Given the description of an element on the screen output the (x, y) to click on. 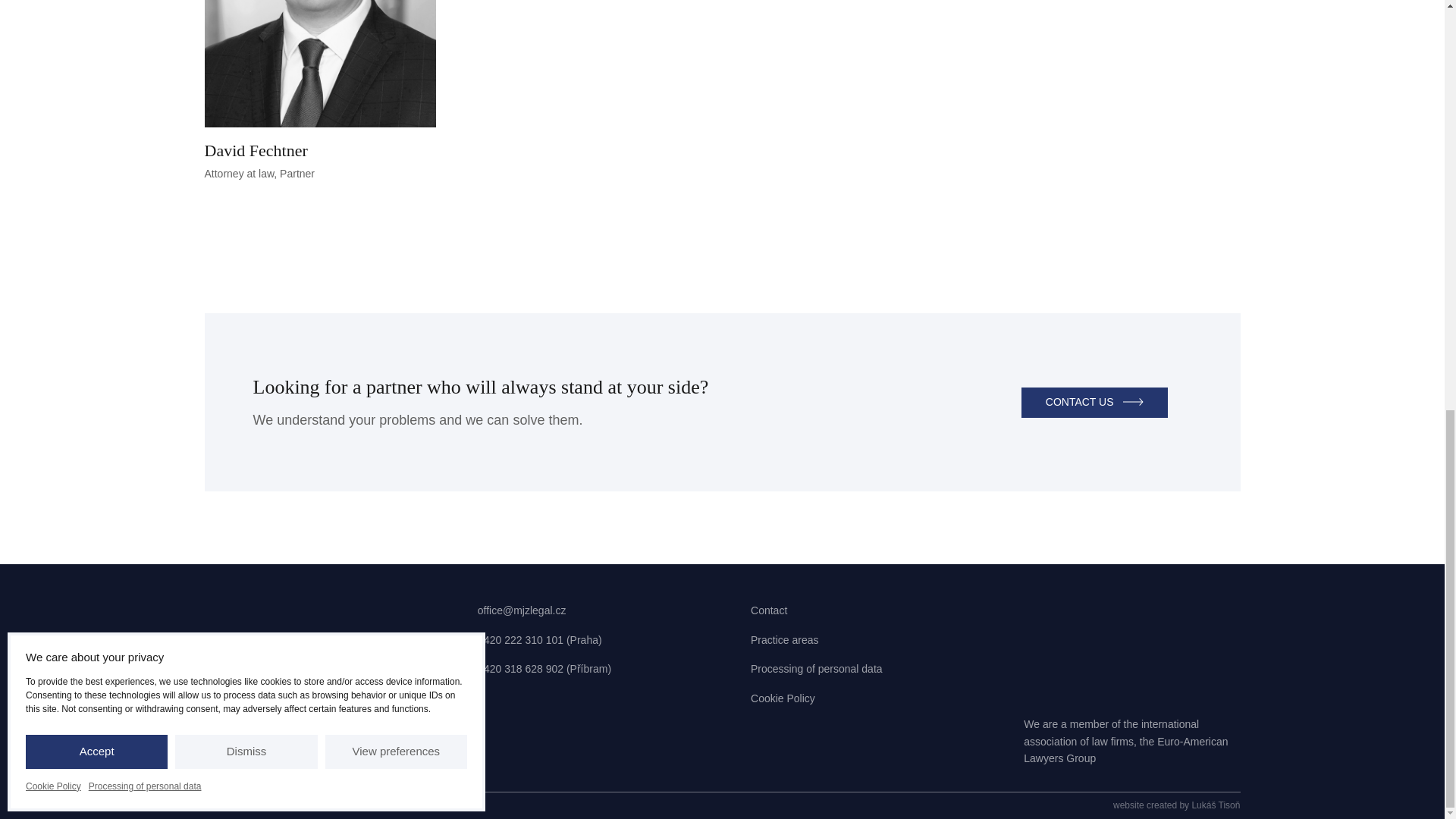
MJZ-legal white (320, 92)
CONTACT US (312, 658)
David Fechtner (1094, 402)
